Given the description of an element on the screen output the (x, y) to click on. 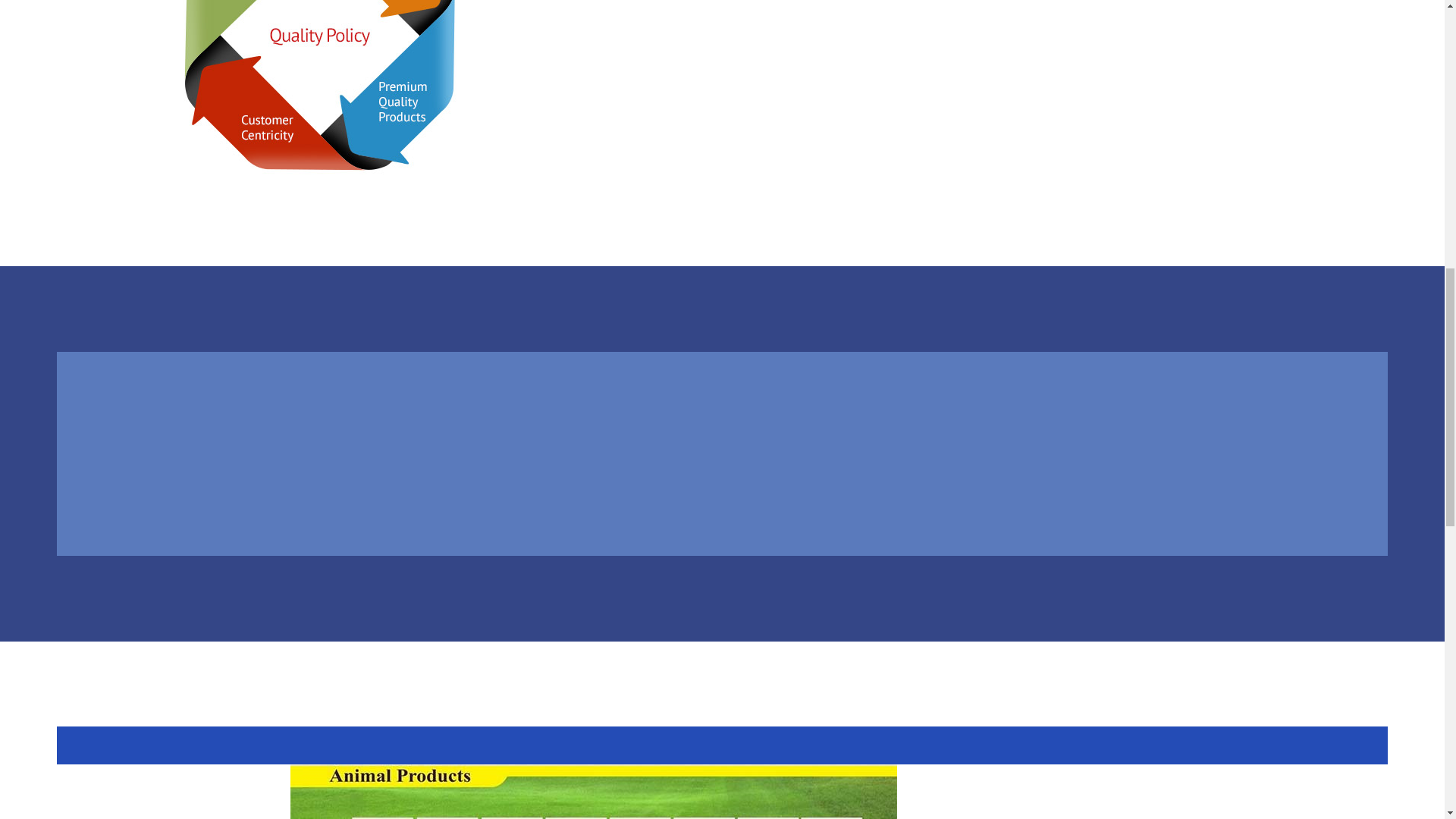
starlab (592, 791)
QUALITY-POLICY (309, 90)
